Given the description of an element on the screen output the (x, y) to click on. 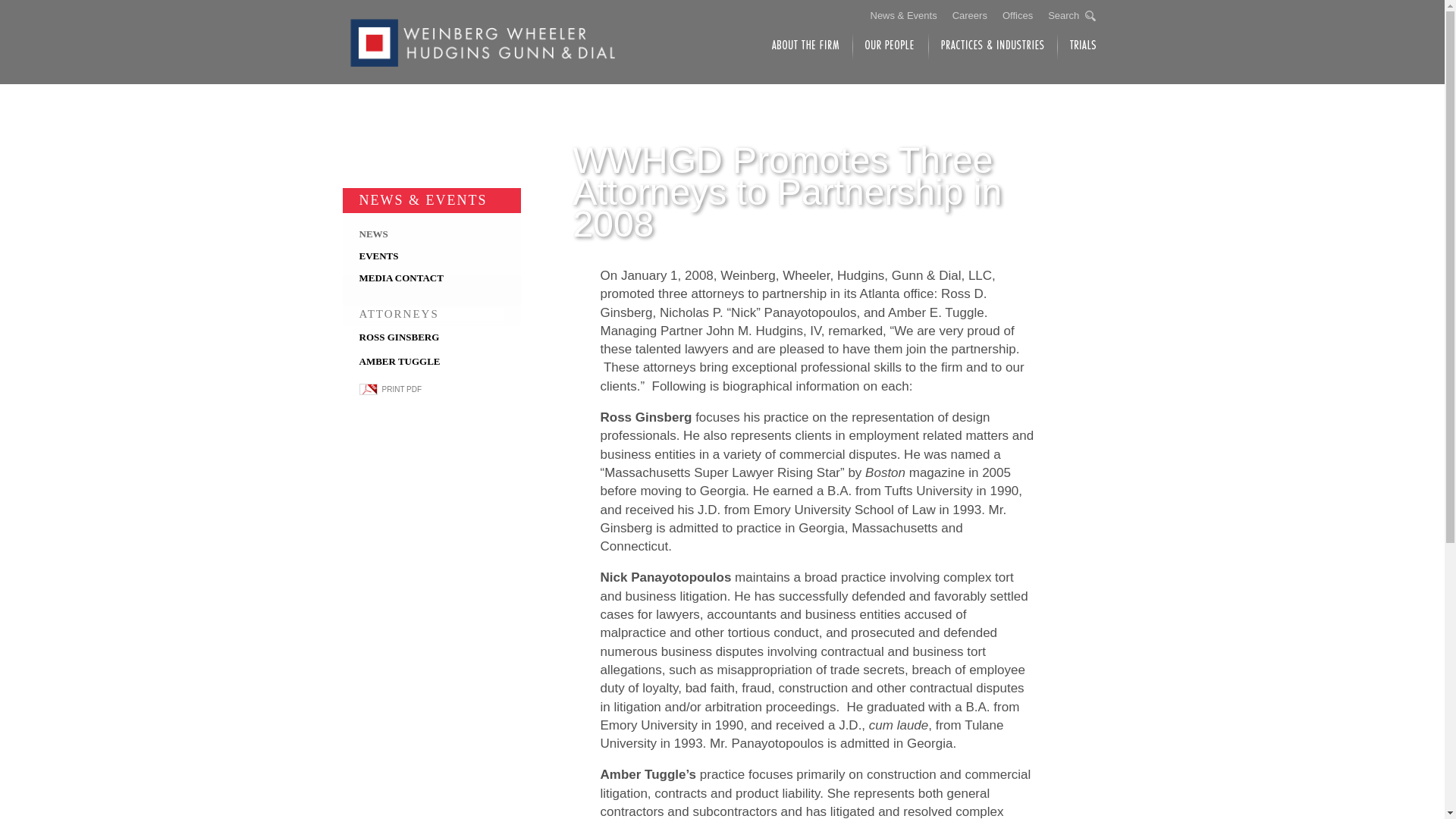
NEWS (373, 233)
AMBER TUGGLE (400, 360)
Search (1072, 15)
Practice and Industries (992, 46)
MEDIA CONTACT (401, 277)
ROSS GINSBERG (399, 336)
Careers (969, 15)
EVENTS (378, 255)
PRINT PDF (431, 389)
Offices (1017, 15)
